Given the description of an element on the screen output the (x, y) to click on. 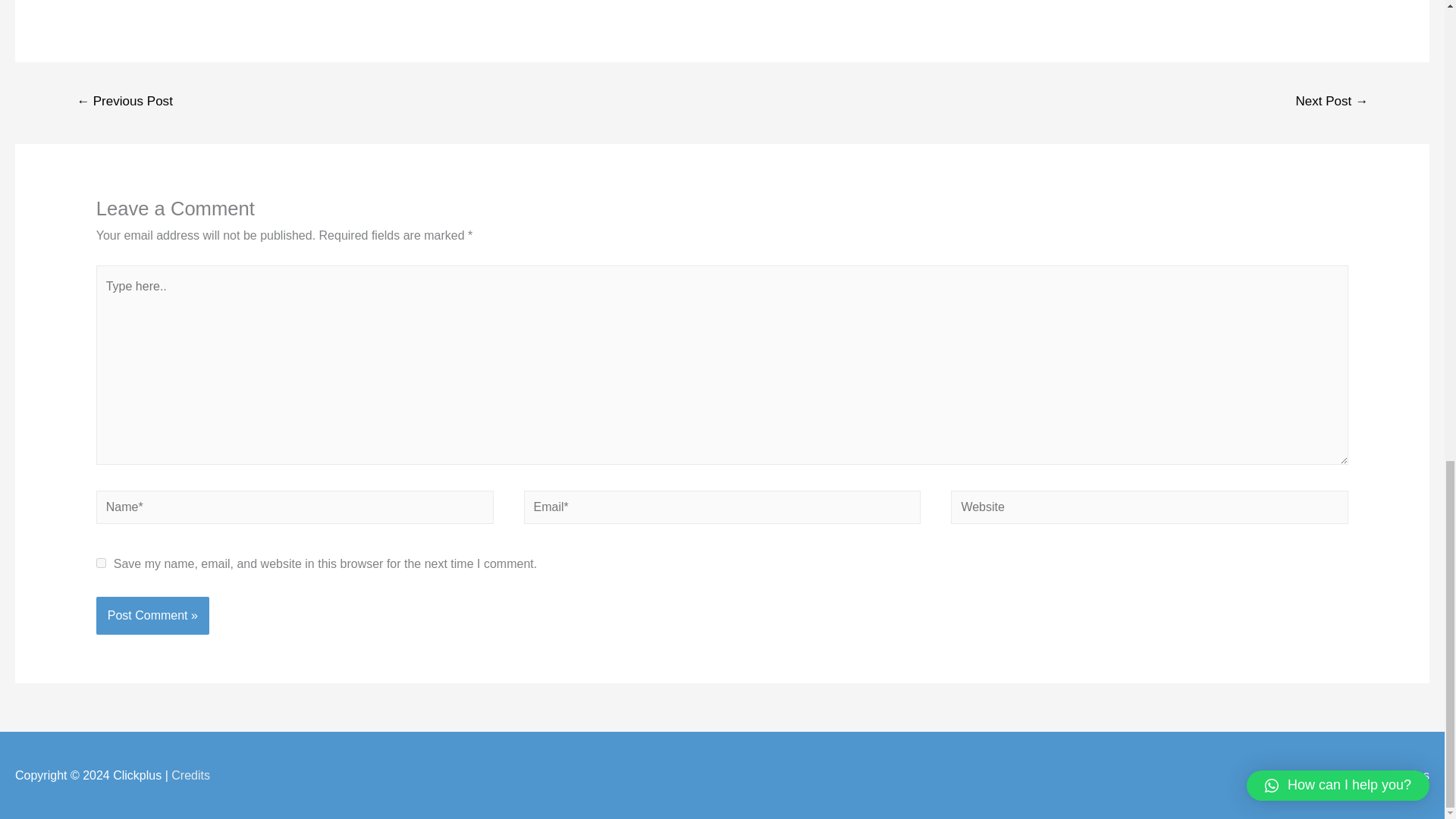
yes (101, 562)
Credits (190, 775)
